Given the description of an element on the screen output the (x, y) to click on. 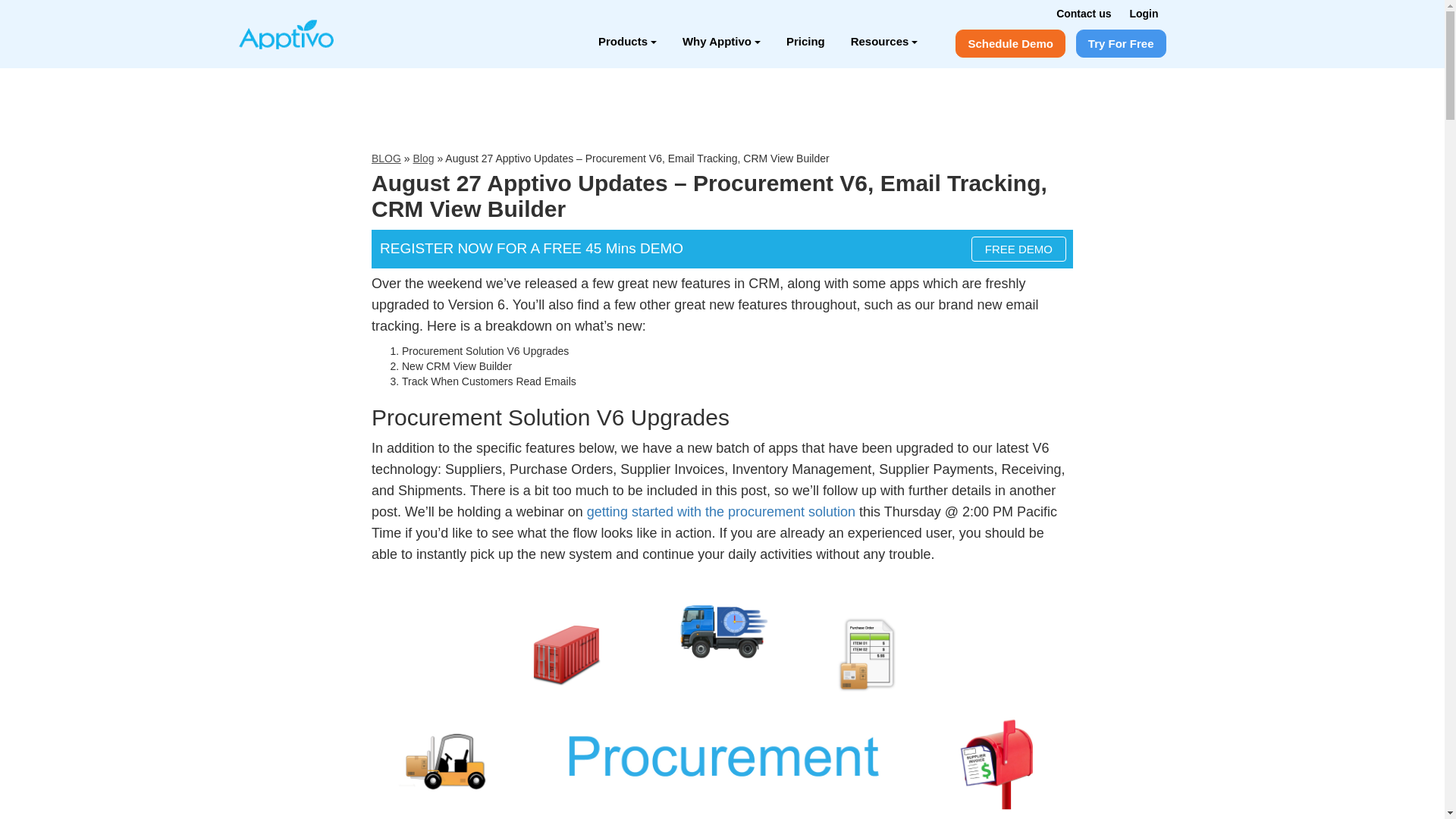
Login (1143, 13)
Products (627, 41)
Procurement Webinar (721, 511)
Contact us (1083, 13)
